Given the description of an element on the screen output the (x, y) to click on. 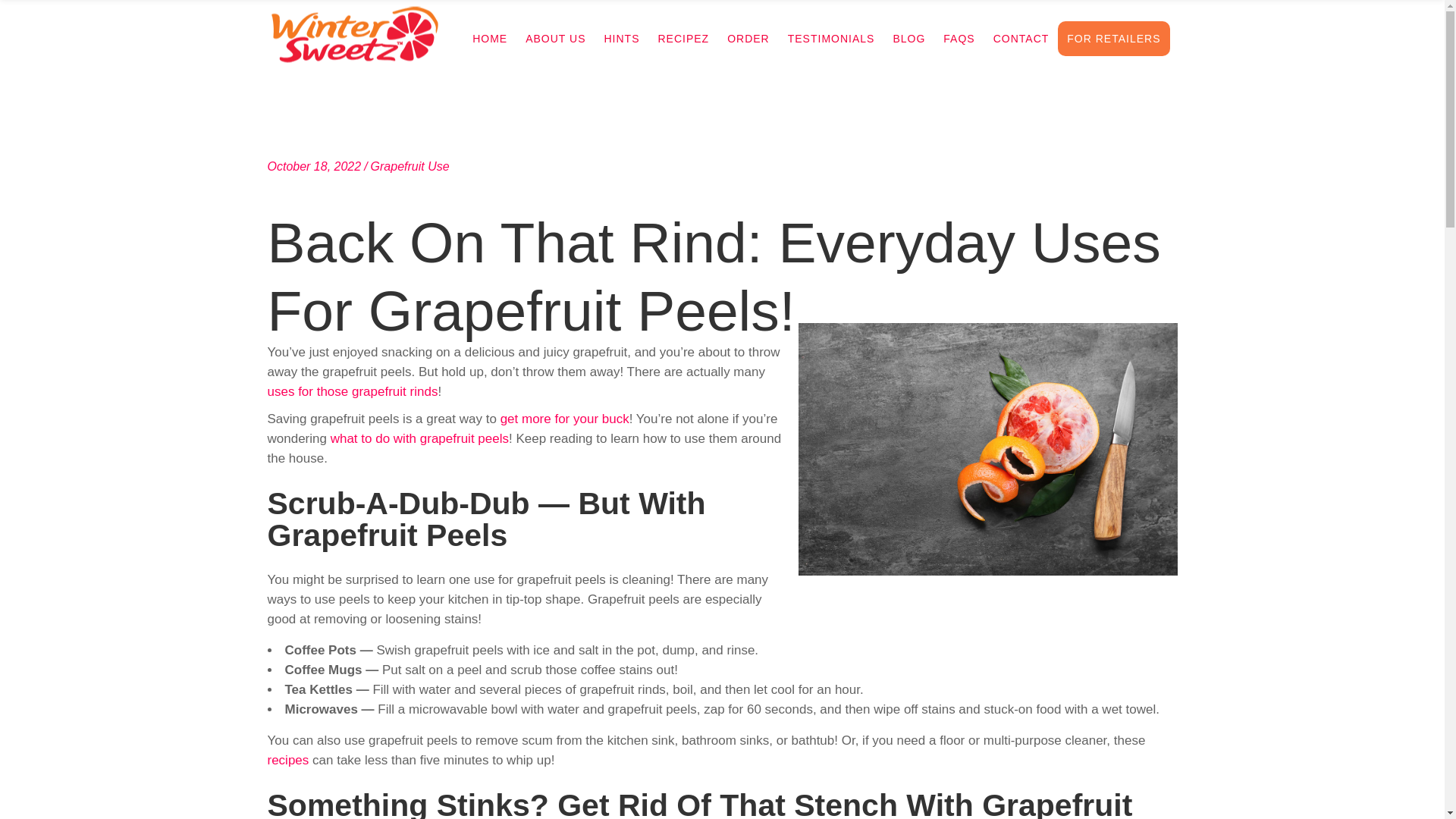
FOR RETAILERS (1113, 38)
U (988, 412)
RECIPEZ (682, 38)
ABOUT US (555, 38)
TESTIMONIALS (830, 38)
CONTACT (1021, 38)
